Given the description of an element on the screen output the (x, y) to click on. 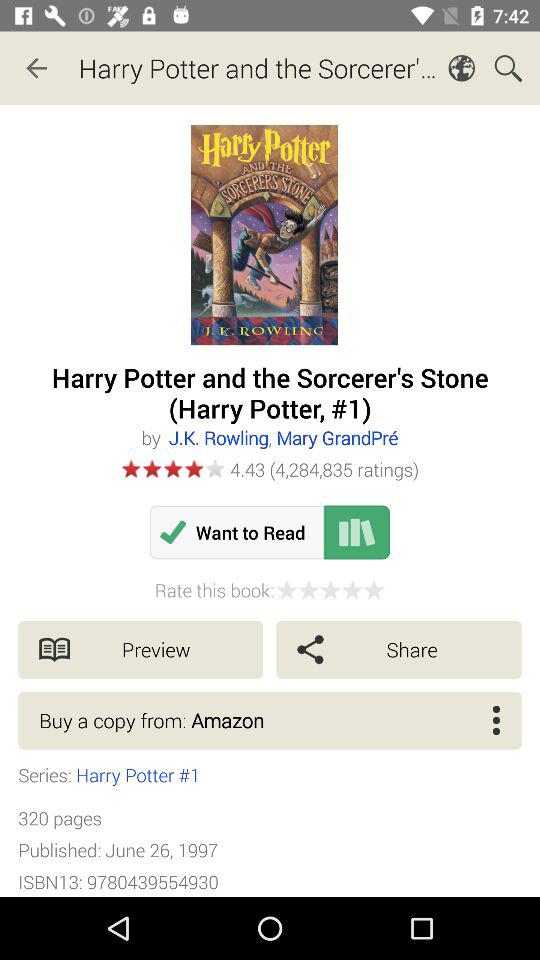
press icon next to want to read icon (356, 532)
